Given the description of an element on the screen output the (x, y) to click on. 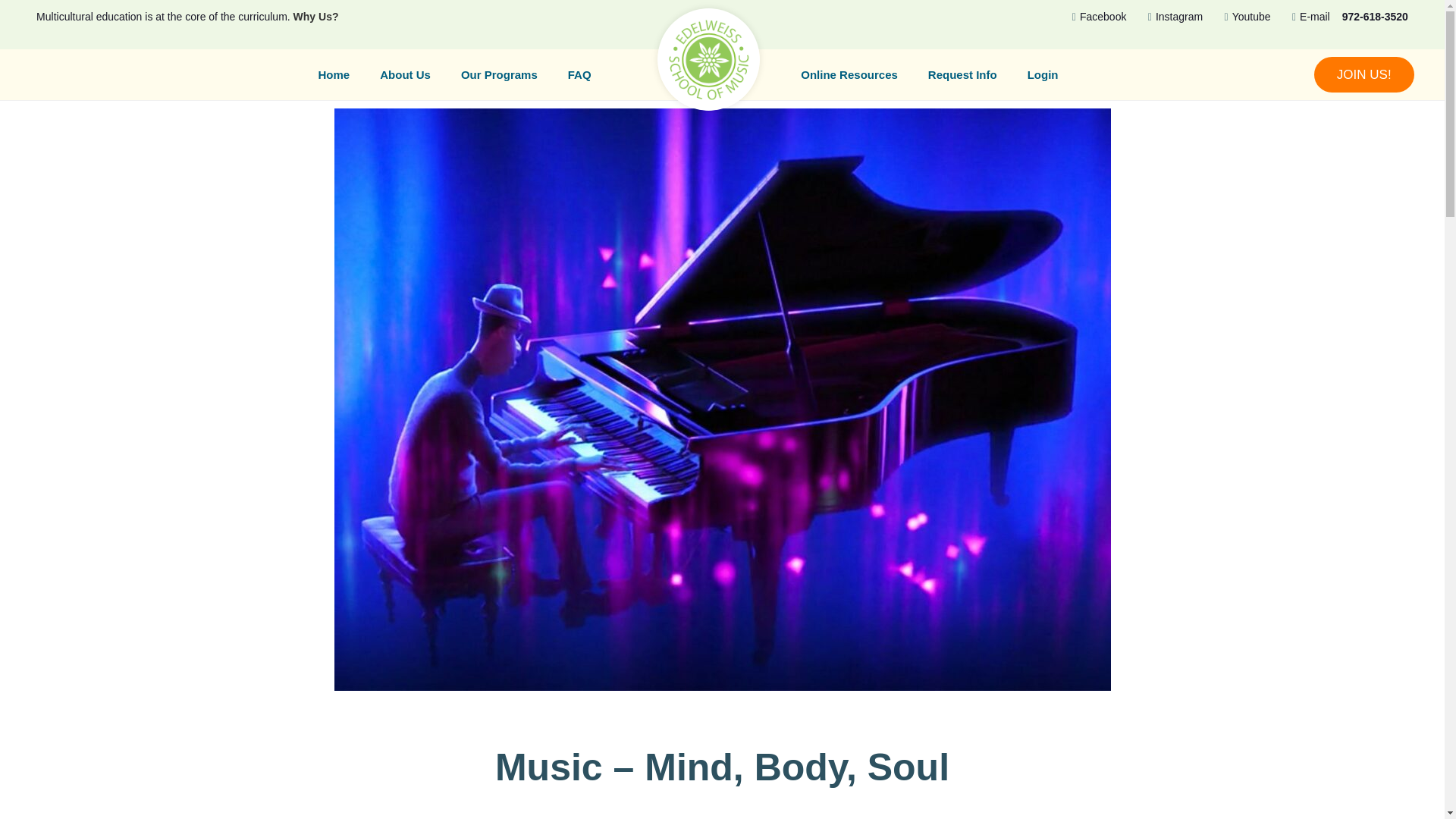
Home (333, 74)
E-mail (1306, 16)
FAQ (580, 74)
972-618-3520 (1374, 16)
Why Us? (316, 16)
About Us (405, 74)
Facebook (1093, 16)
Youtube (1241, 16)
Our Programs (499, 74)
Instagram (1170, 16)
